Given the description of an element on the screen output the (x, y) to click on. 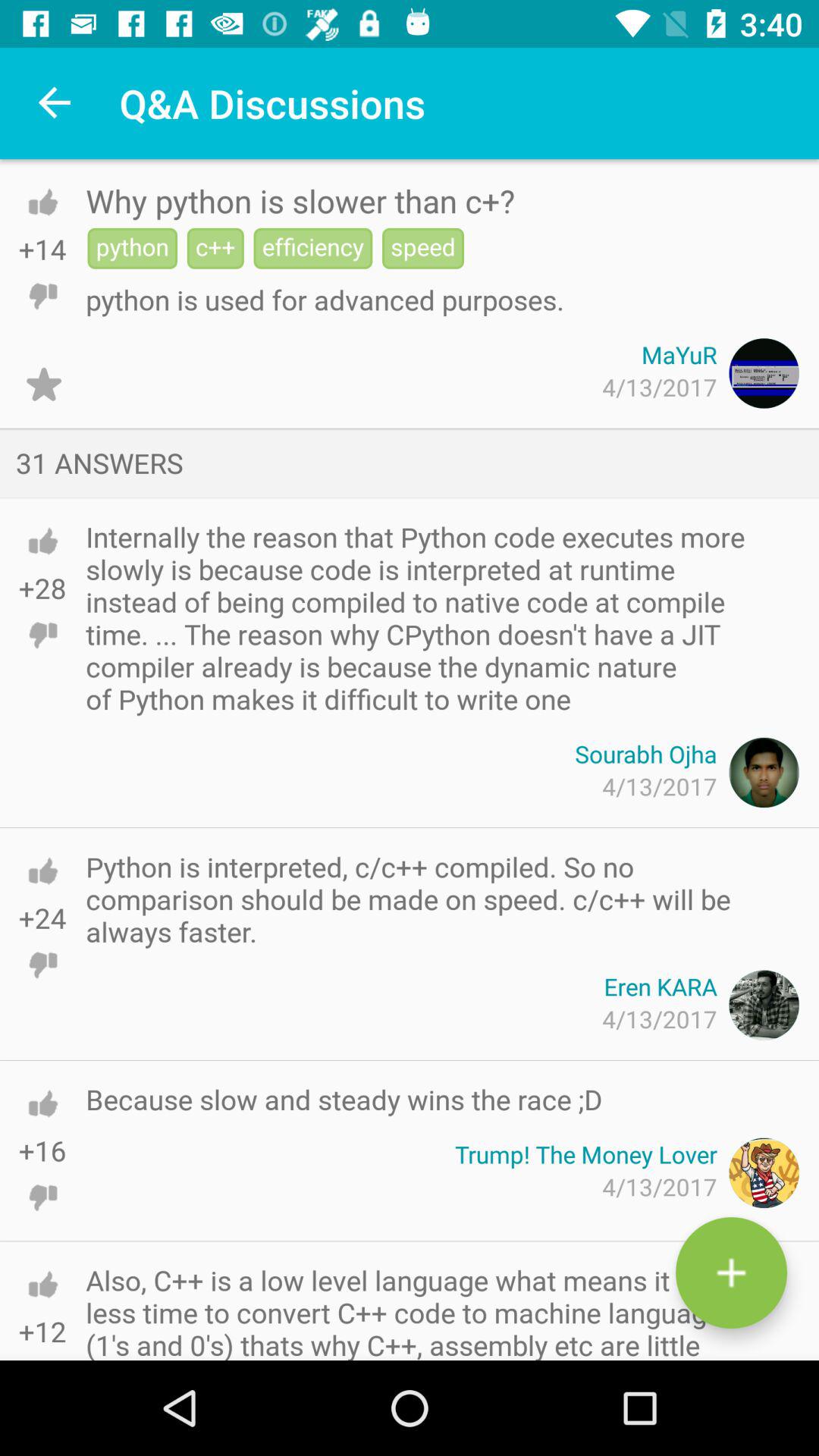
dislike option (42, 964)
